Given the description of an element on the screen output the (x, y) to click on. 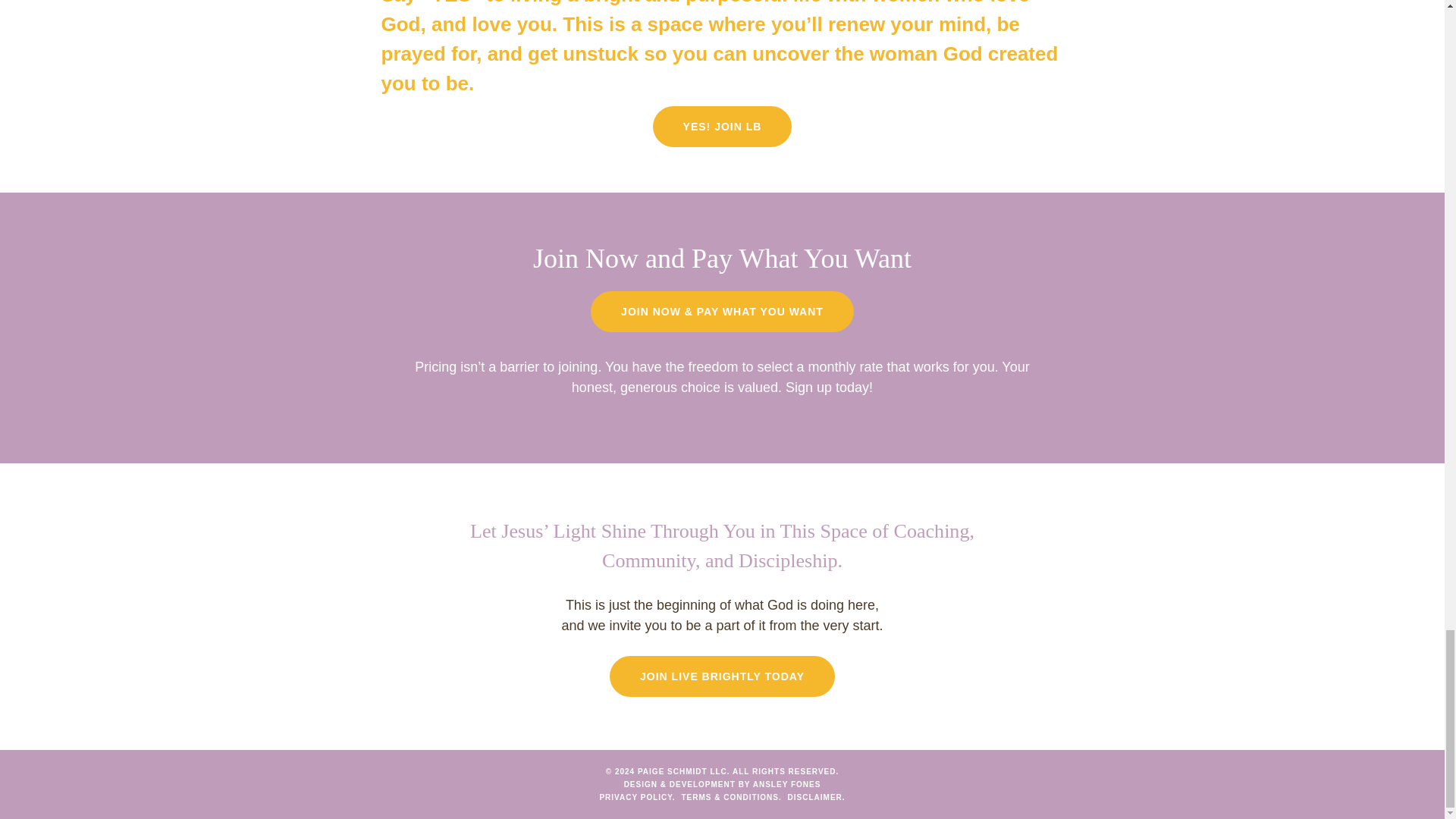
YES! JOIN LB (722, 126)
JOIN LIVE BRIGHTLY TODAY (722, 676)
DISCLAIMER (815, 797)
PRIVACY POLICY (634, 797)
